Given the description of an element on the screen output the (x, y) to click on. 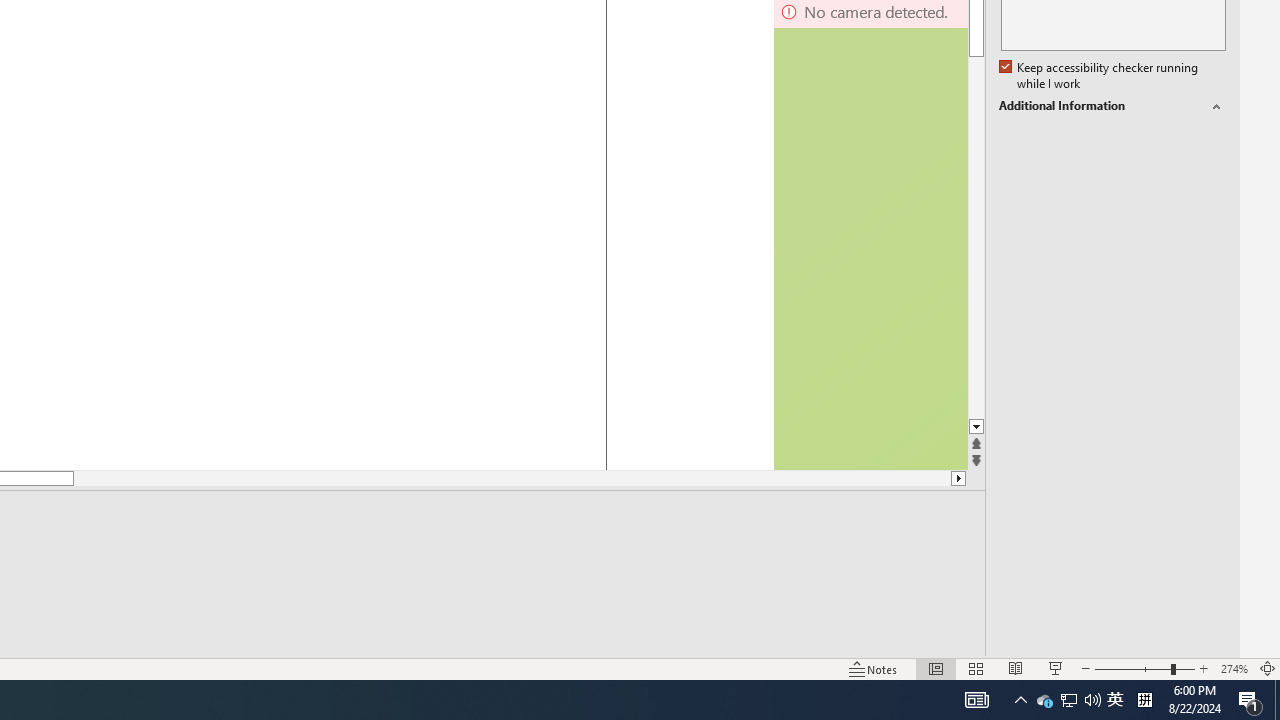
IME Mode Icon - IME is disabled (1115, 699)
Zoom 274% (1234, 668)
